Given the description of an element on the screen output the (x, y) to click on. 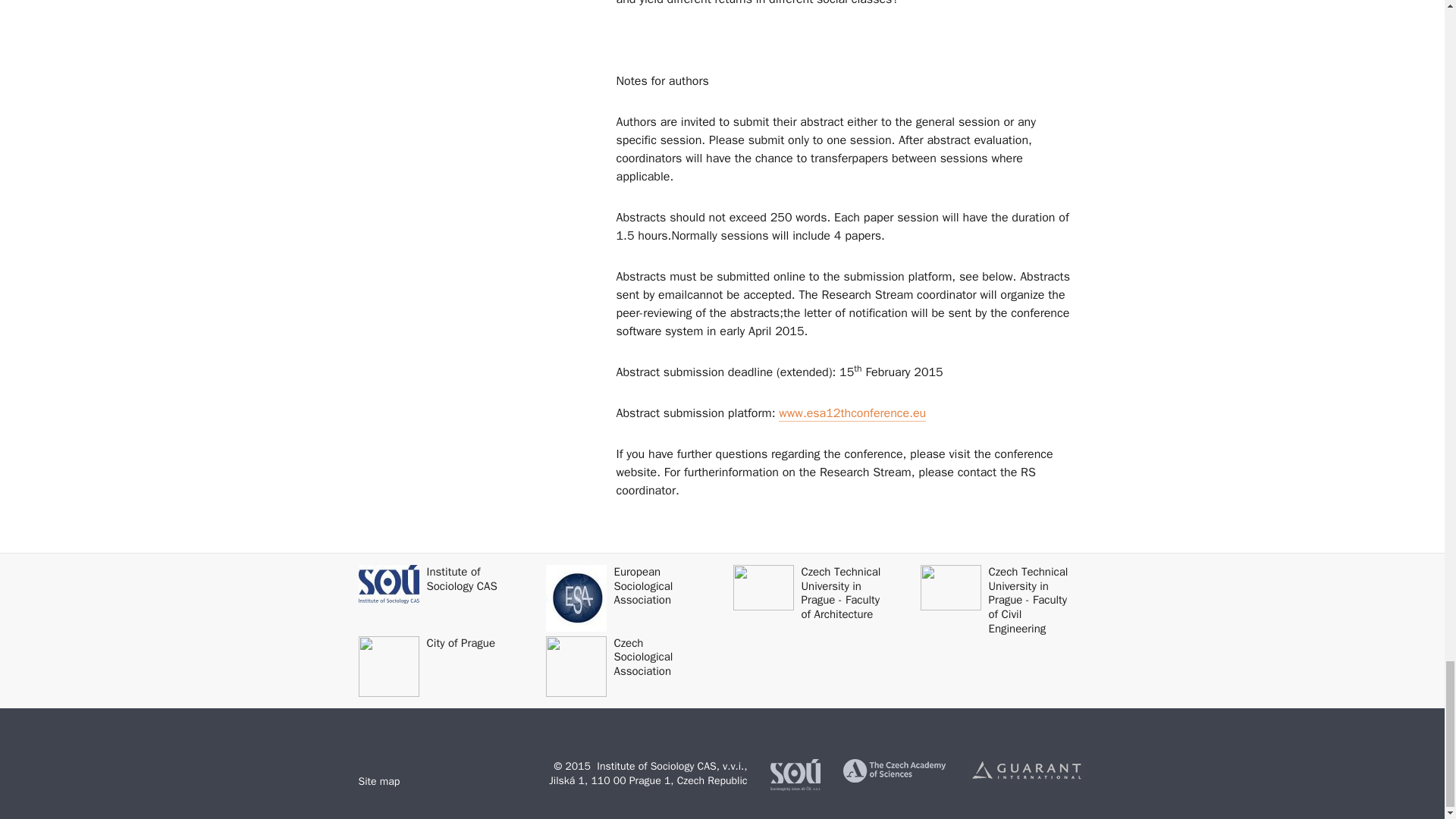
www.esa12thconference.eu (852, 413)
